Given the description of an element on the screen output the (x, y) to click on. 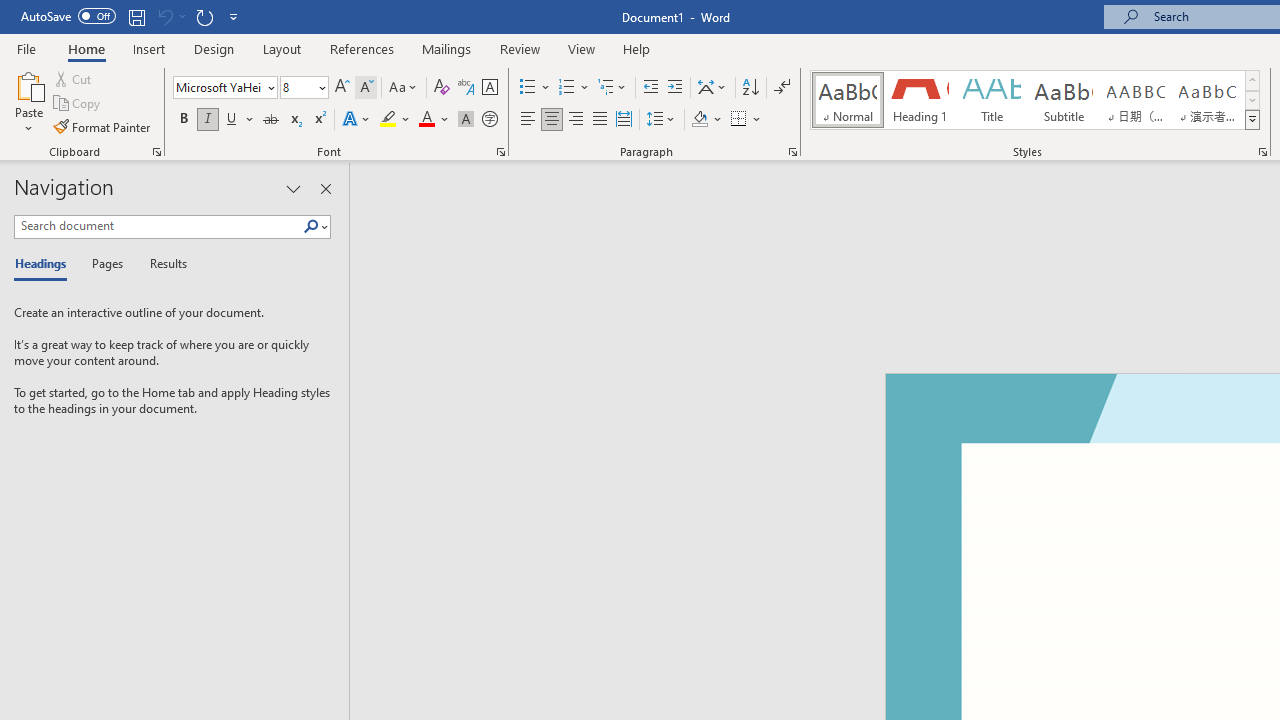
Task Pane Options (293, 188)
Search (315, 227)
Paragraph... (792, 151)
System (10, 11)
Subtitle (1063, 100)
Phonetic Guide... (465, 87)
Italic (207, 119)
Subscript (294, 119)
Heading 1 (920, 100)
References (362, 48)
Justify (599, 119)
Increase Indent (675, 87)
Bold (183, 119)
Row Down (1252, 100)
Line and Paragraph Spacing (661, 119)
